Given the description of an element on the screen output the (x, y) to click on. 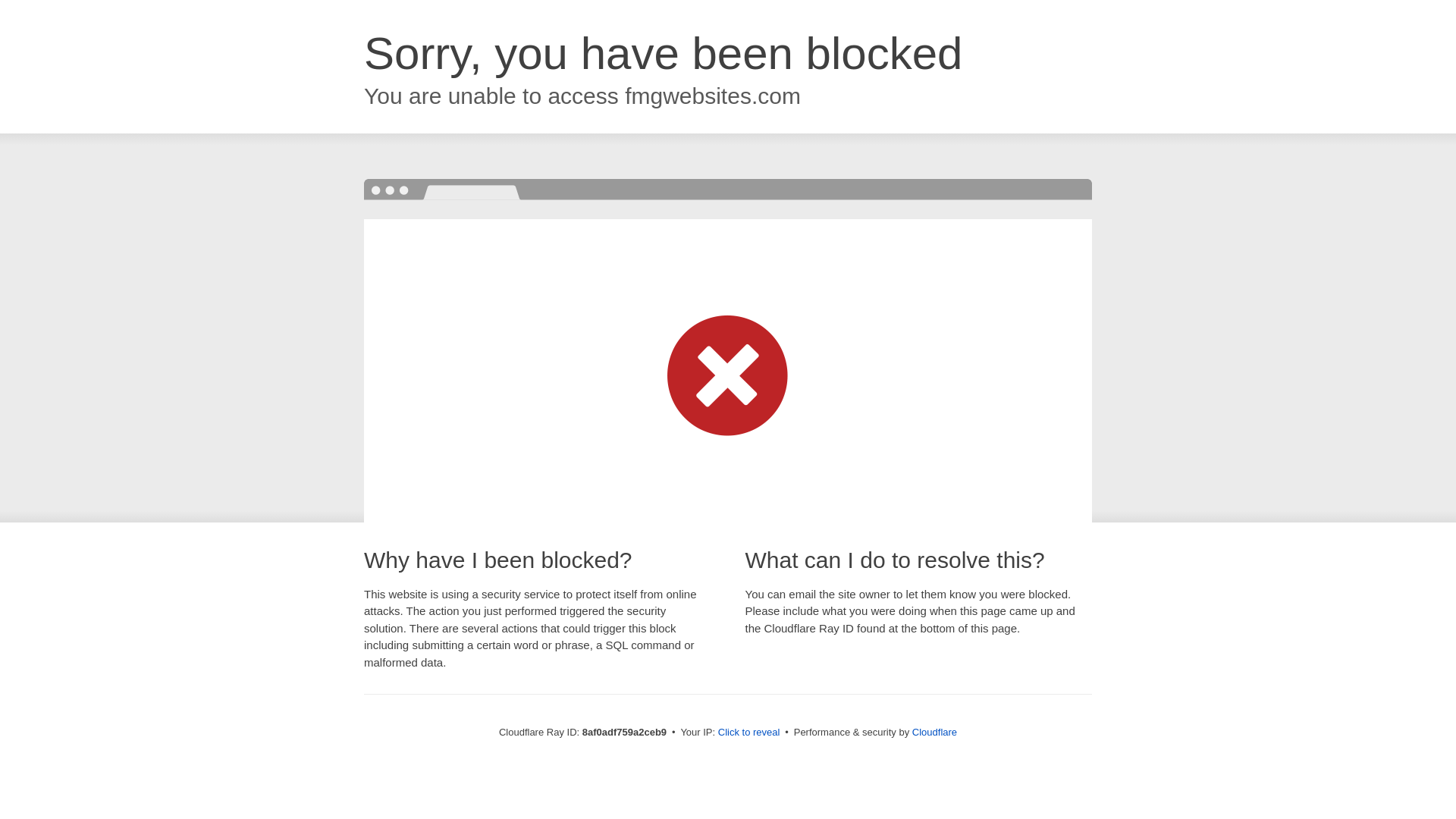
Click to reveal (748, 732)
Cloudflare (934, 731)
